Given the description of an element on the screen output the (x, y) to click on. 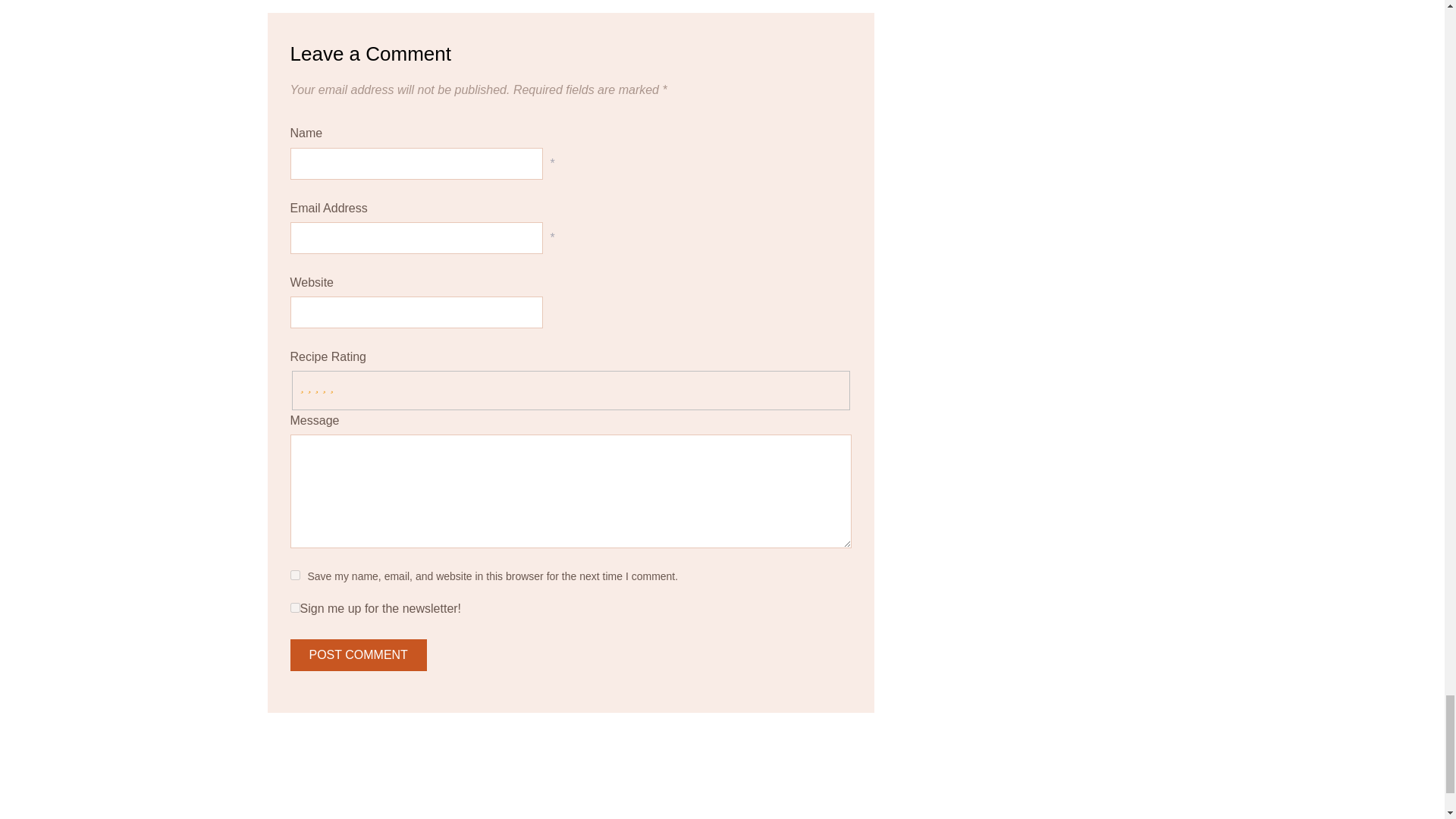
Post Comment (357, 654)
yes (294, 574)
1 (294, 607)
